Given the description of an element on the screen output the (x, y) to click on. 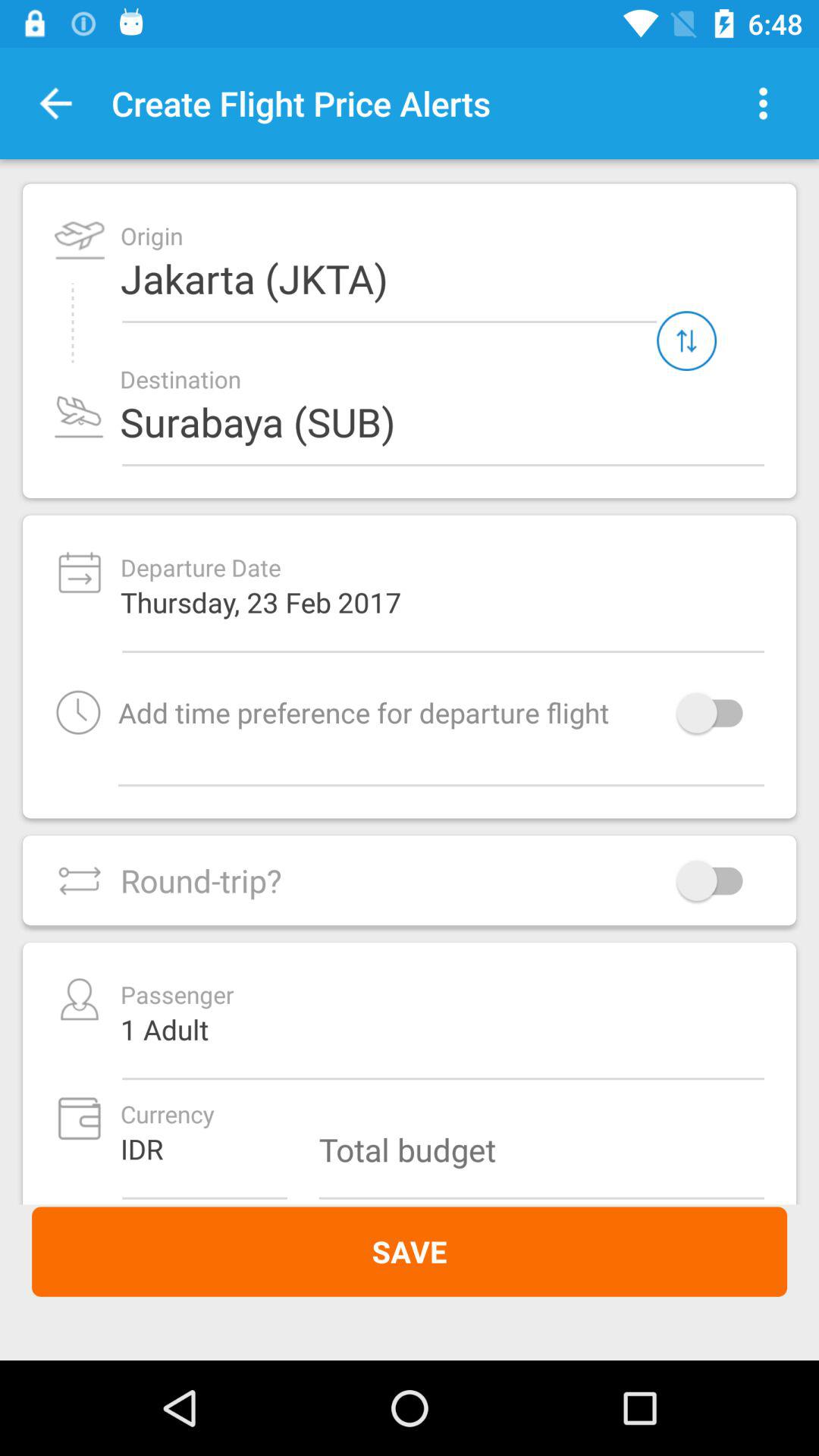
toggle time preference (716, 712)
